Given the description of an element on the screen output the (x, y) to click on. 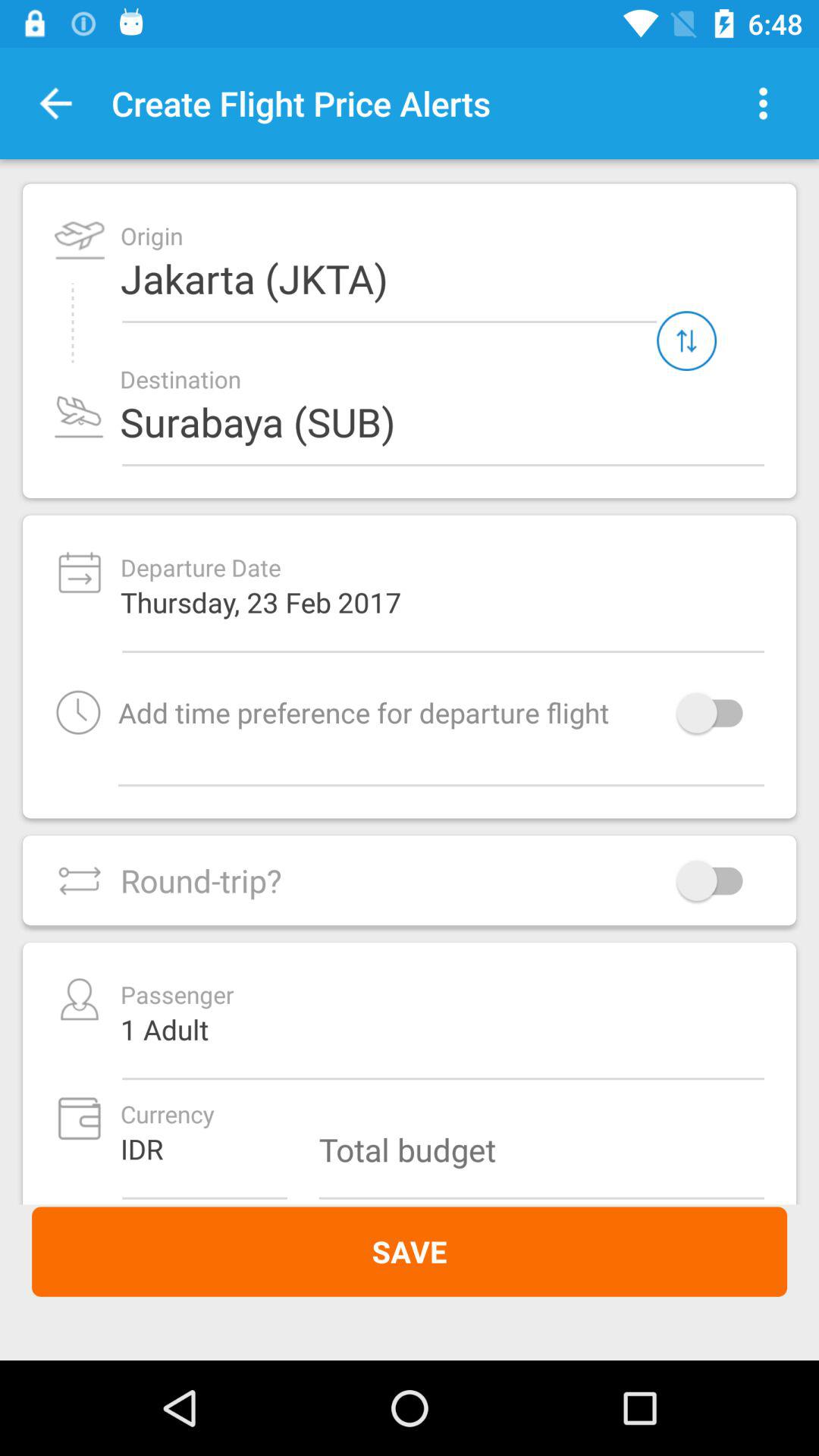
toggle time preference (716, 712)
